Given the description of an element on the screen output the (x, y) to click on. 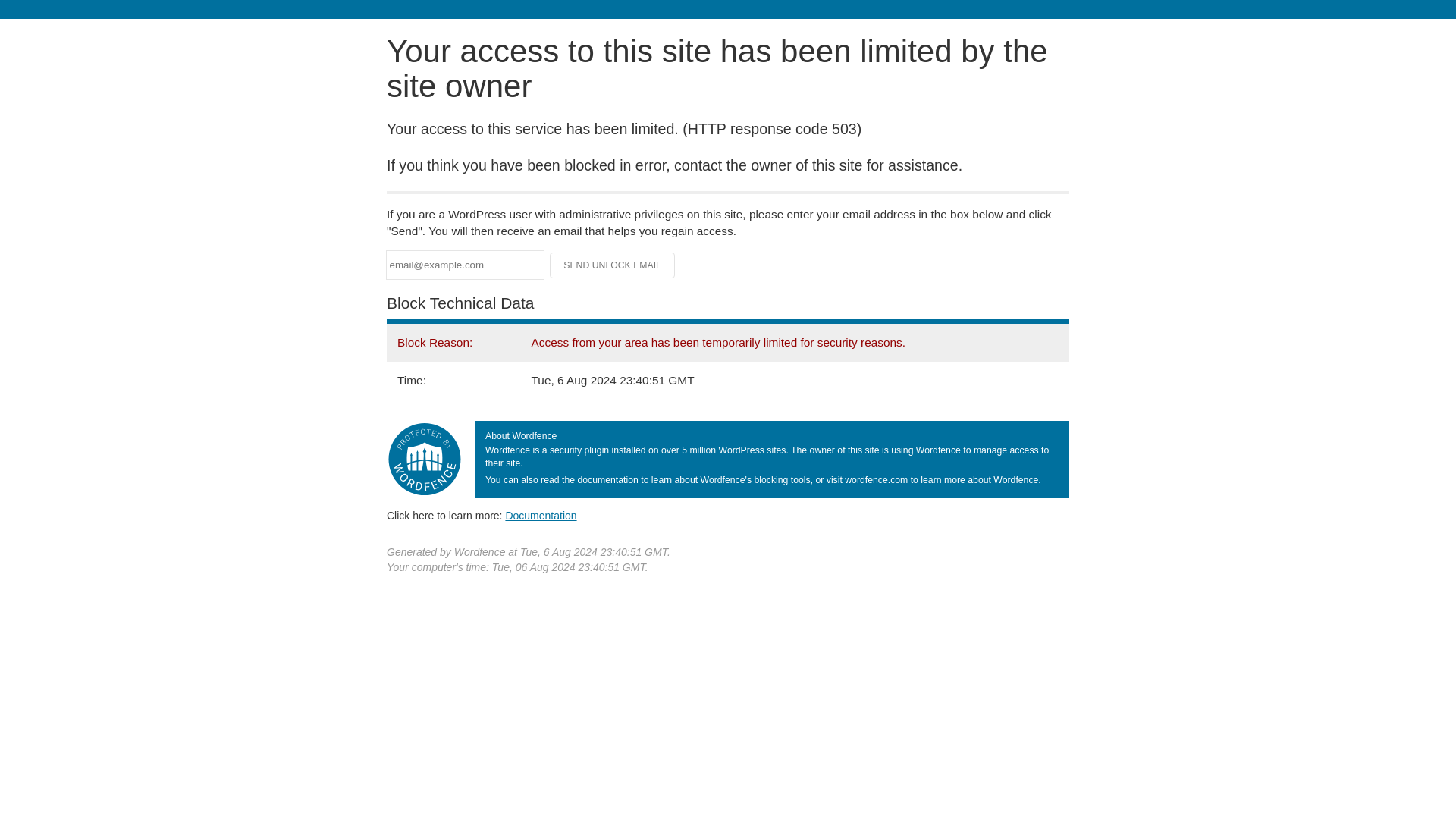
Send Unlock Email (612, 265)
Send Unlock Email (612, 265)
Documentation (540, 515)
